Given the description of an element on the screen output the (x, y) to click on. 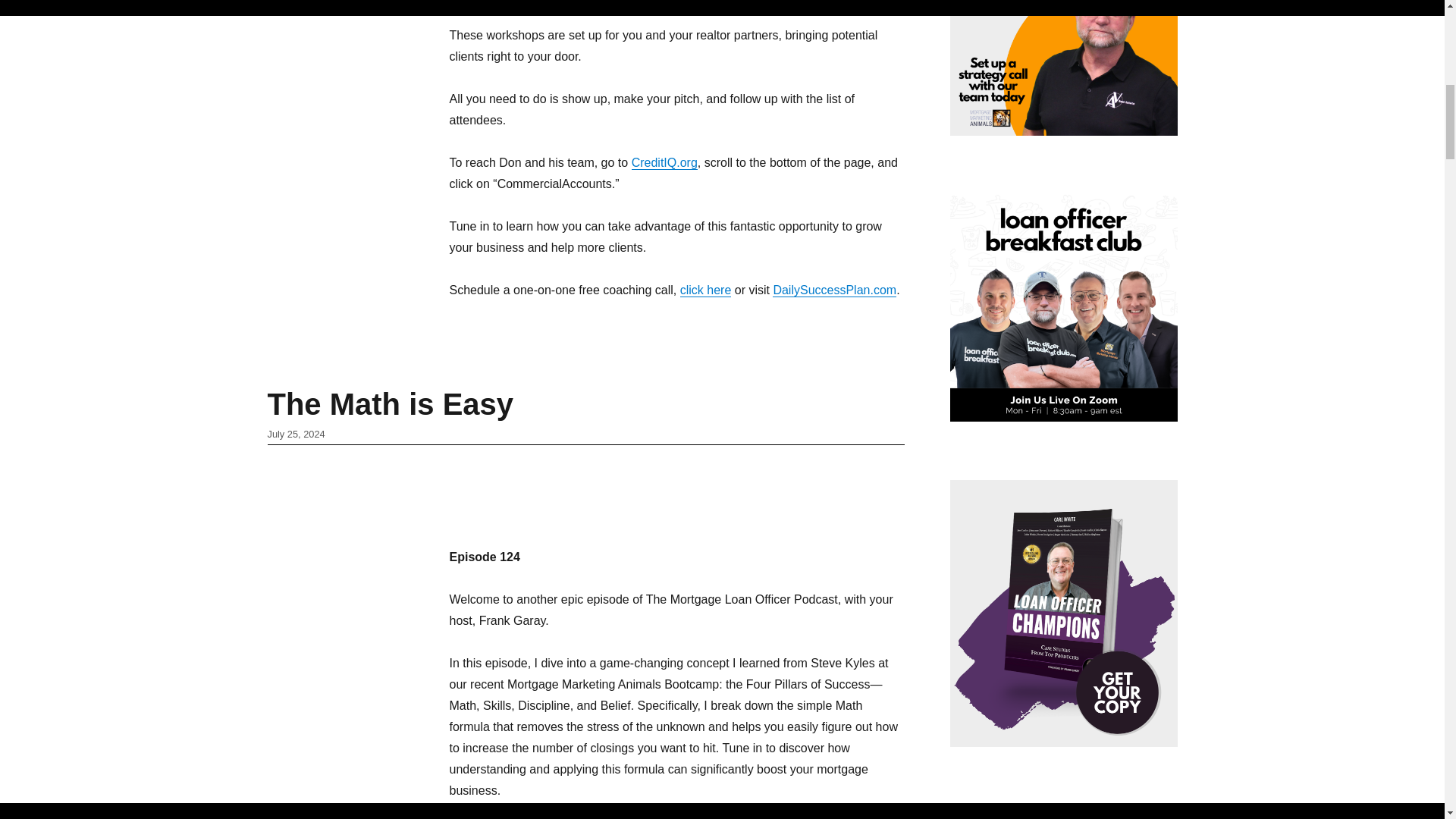
Libsyn Player (676, 491)
click here (705, 289)
CreditIQ.org (664, 162)
DailySuccessPlan.com (834, 289)
The Math is Easy (389, 403)
